Given the description of an element on the screen output the (x, y) to click on. 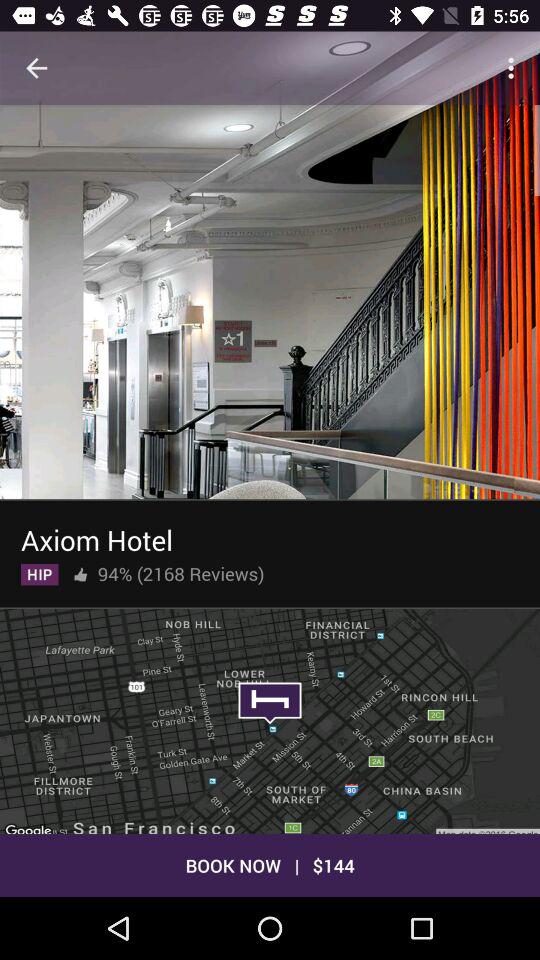
open the axiom hotel item (96, 536)
